Given the description of an element on the screen output the (x, y) to click on. 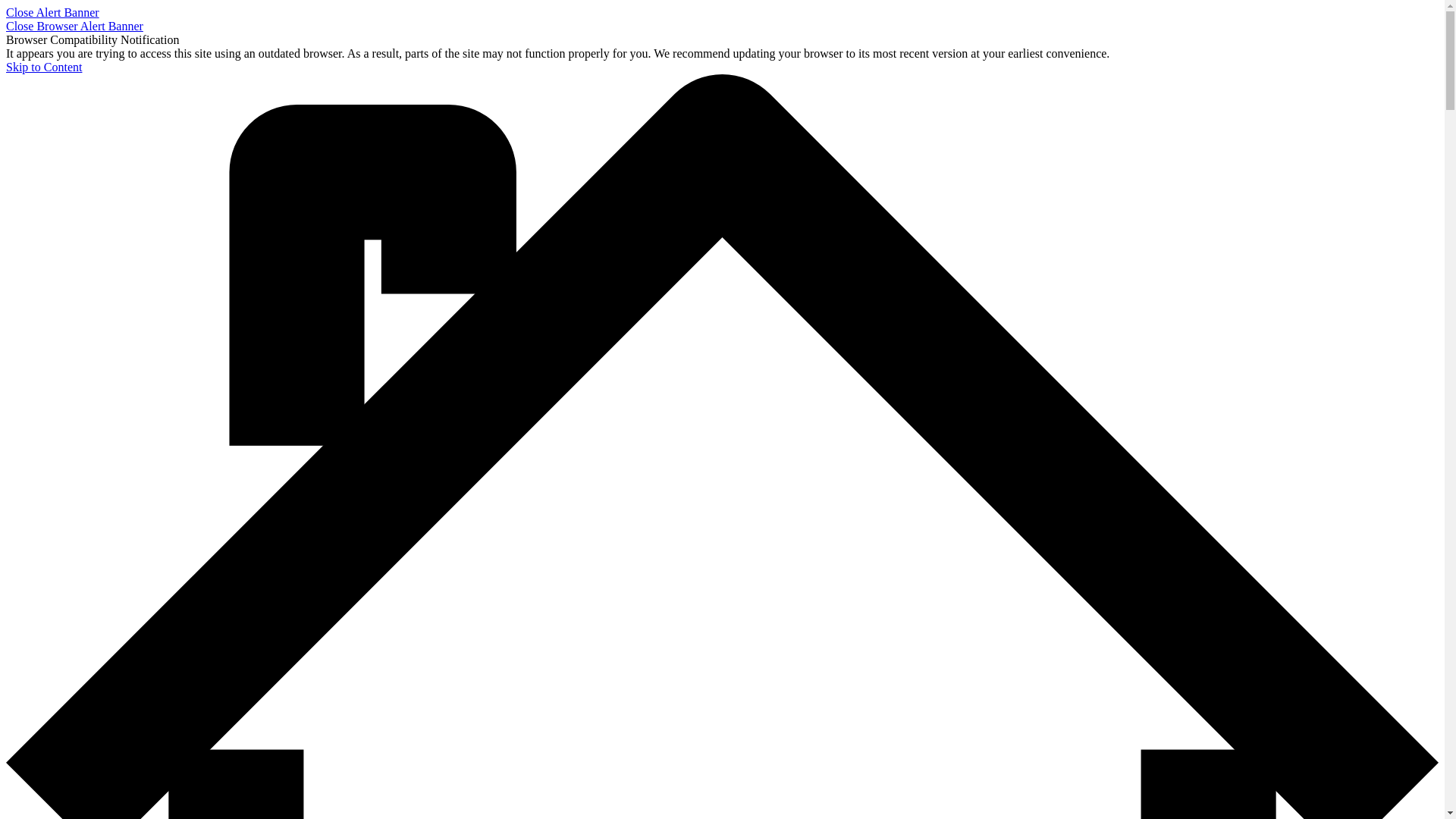
Close Browser Alert Banner Element type: text (74, 25)
Skip to Content Element type: text (43, 66)
Close Alert Banner Element type: text (52, 12)
